Given the description of an element on the screen output the (x, y) to click on. 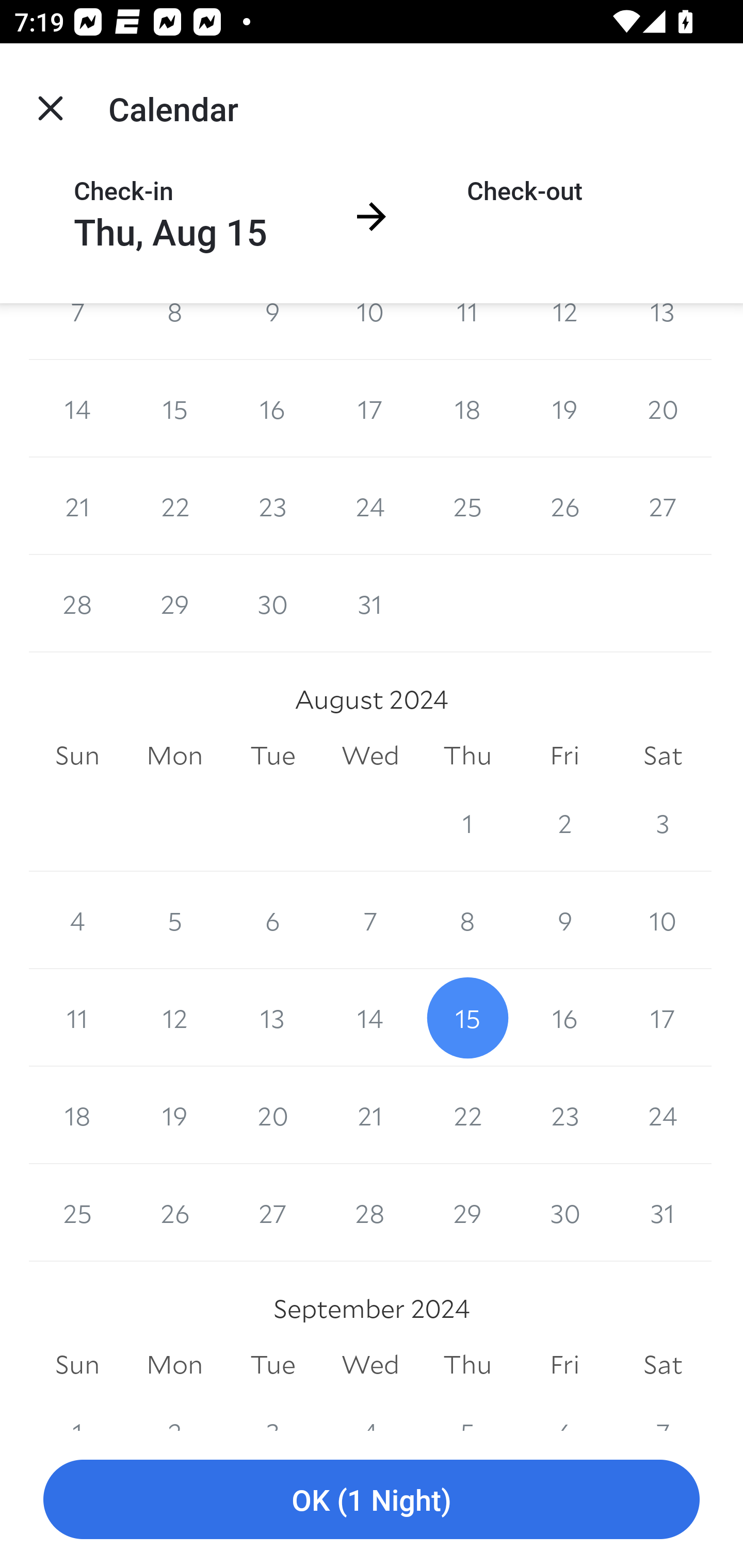
7 7 July 2024 (77, 331)
8 8 July 2024 (174, 331)
9 9 July 2024 (272, 331)
10 10 July 2024 (370, 331)
11 11 July 2024 (467, 331)
12 12 July 2024 (564, 331)
13 13 July 2024 (662, 331)
14 14 July 2024 (77, 408)
15 15 July 2024 (174, 408)
16 16 July 2024 (272, 408)
17 17 July 2024 (370, 408)
18 18 July 2024 (467, 408)
19 19 July 2024 (564, 408)
20 20 July 2024 (662, 408)
21 21 July 2024 (77, 506)
22 22 July 2024 (174, 506)
23 23 July 2024 (272, 506)
24 24 July 2024 (370, 506)
25 25 July 2024 (467, 506)
26 26 July 2024 (564, 506)
27 27 July 2024 (662, 506)
28 28 July 2024 (77, 603)
29 29 July 2024 (174, 603)
30 30 July 2024 (272, 603)
31 31 July 2024 (370, 603)
Sun (77, 755)
Mon (174, 755)
Tue (272, 755)
Wed (370, 755)
Thu (467, 755)
Fri (564, 755)
Sat (662, 755)
1 1 August 2024 (467, 822)
2 2 August 2024 (564, 822)
3 3 August 2024 (662, 822)
4 4 August 2024 (77, 920)
5 5 August 2024 (174, 920)
6 6 August 2024 (272, 920)
7 7 August 2024 (370, 920)
8 8 August 2024 (467, 920)
9 9 August 2024 (564, 920)
10 10 August 2024 (662, 920)
11 11 August 2024 (77, 1017)
12 12 August 2024 (174, 1017)
13 13 August 2024 (272, 1017)
14 14 August 2024 (370, 1017)
15 15 August 2024 (467, 1017)
16 16 August 2024 (564, 1017)
17 17 August 2024 (662, 1017)
